Given the description of an element on the screen output the (x, y) to click on. 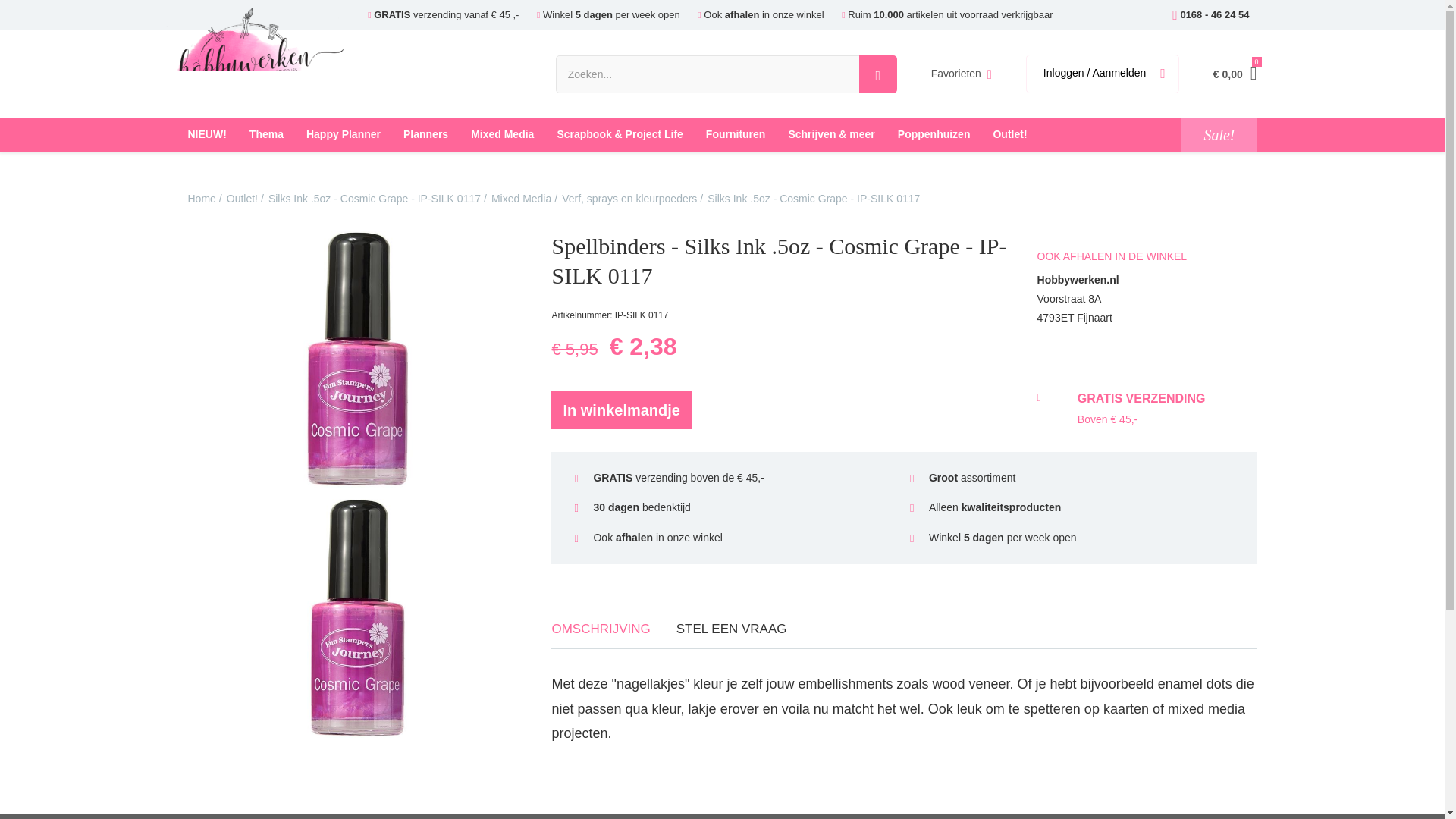
Happy Planner (343, 134)
NIEUW! (206, 134)
Favorieten (961, 73)
Thema (266, 134)
NIEUW! (206, 134)
Thema (266, 134)
